Given the description of an element on the screen output the (x, y) to click on. 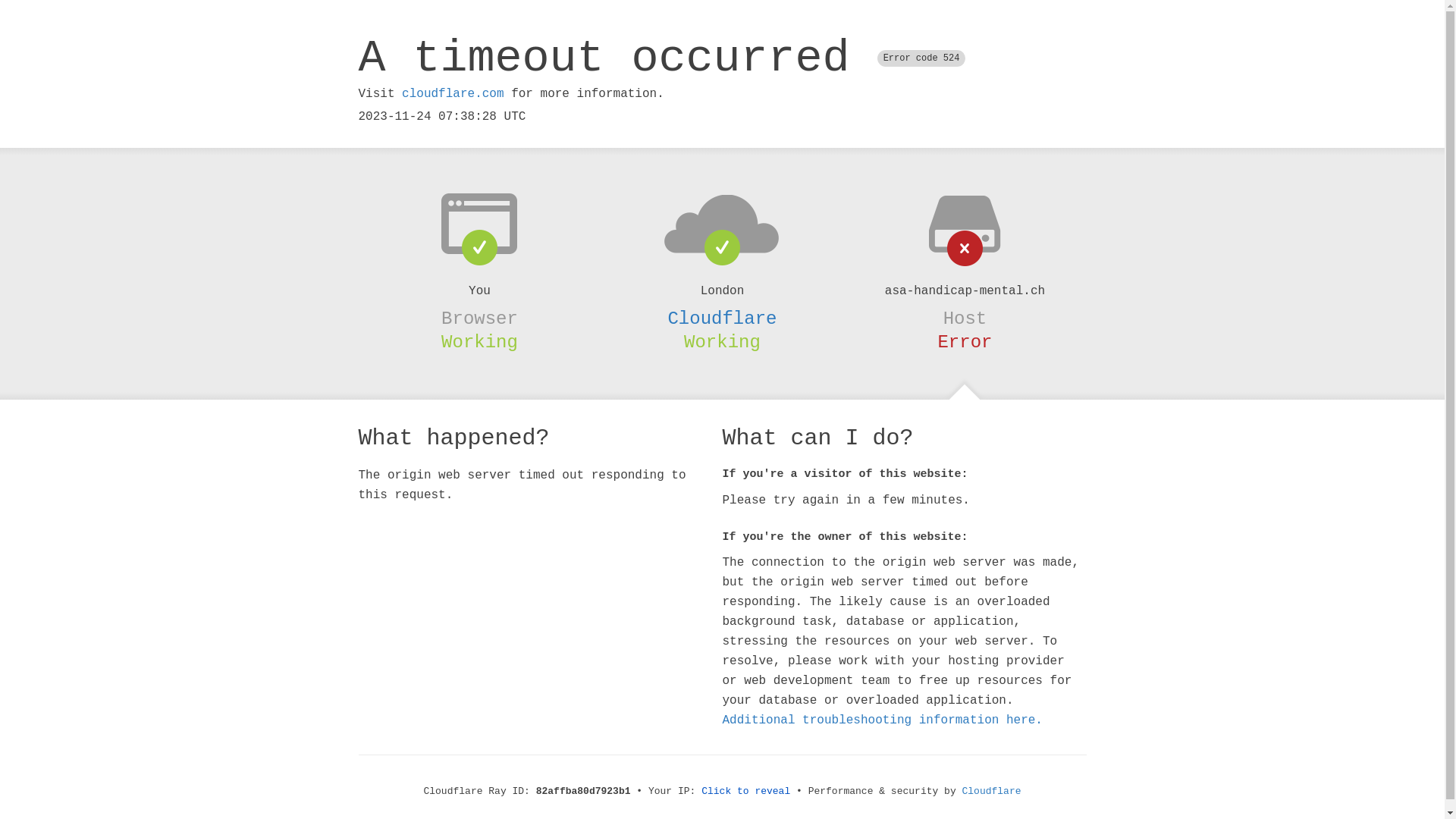
Cloudflare Element type: text (991, 791)
cloudflare.com Element type: text (452, 93)
Cloudflare Element type: text (721, 318)
Additional troubleshooting information here. Element type: text (881, 720)
Click to reveal Element type: text (745, 791)
